Given the description of an element on the screen output the (x, y) to click on. 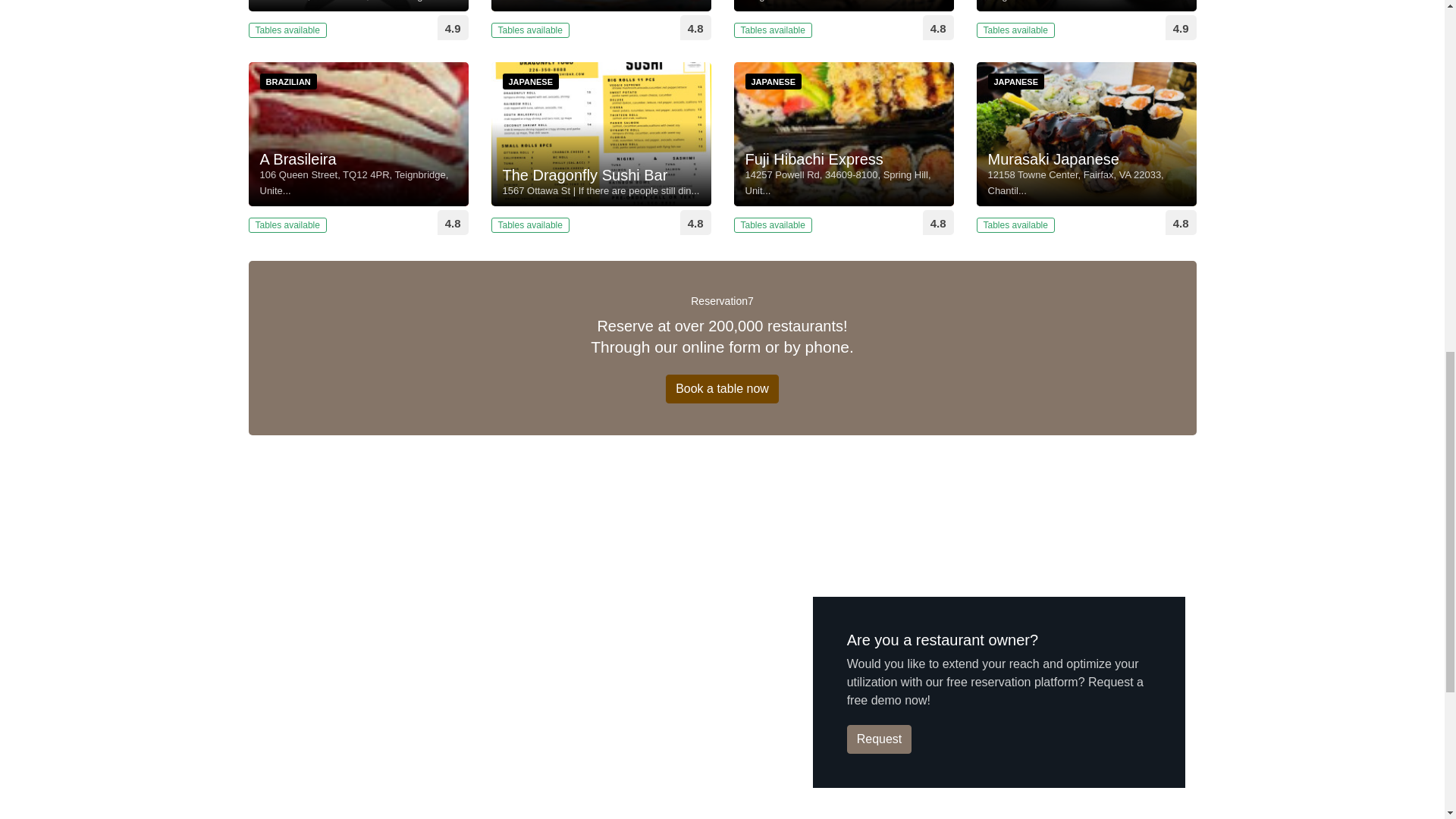
Book a table now (721, 388)
Request (879, 738)
